Given the description of an element on the screen output the (x, y) to click on. 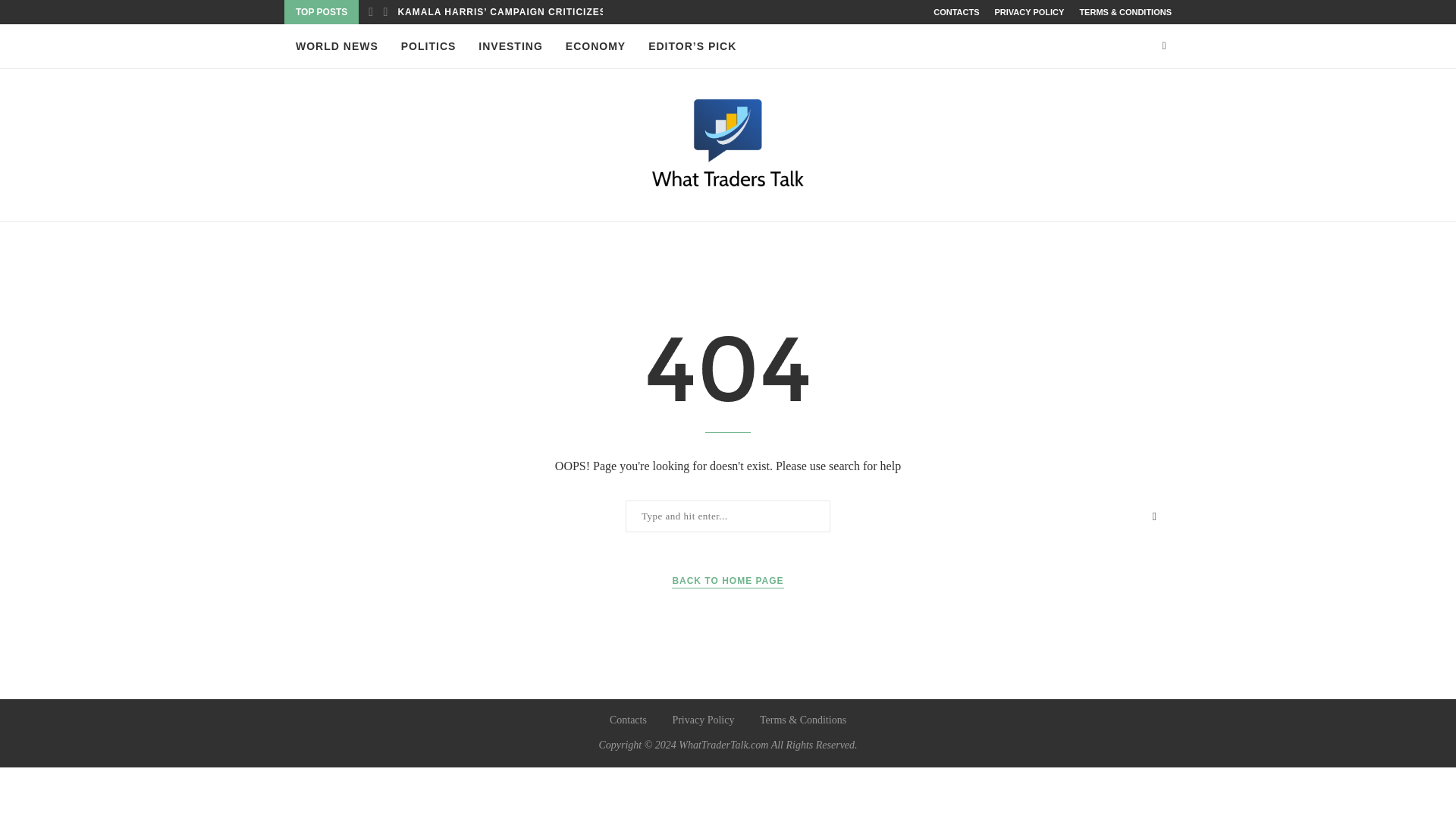
INVESTING (510, 46)
PRIVACY POLICY (1029, 12)
Privacy Policy (702, 719)
POLITICS (428, 46)
CONTACTS (955, 12)
WORLD NEWS (336, 46)
BACK TO HOME PAGE (727, 581)
ECONOMY (595, 46)
Contacts (628, 719)
